Given the description of an element on the screen output the (x, y) to click on. 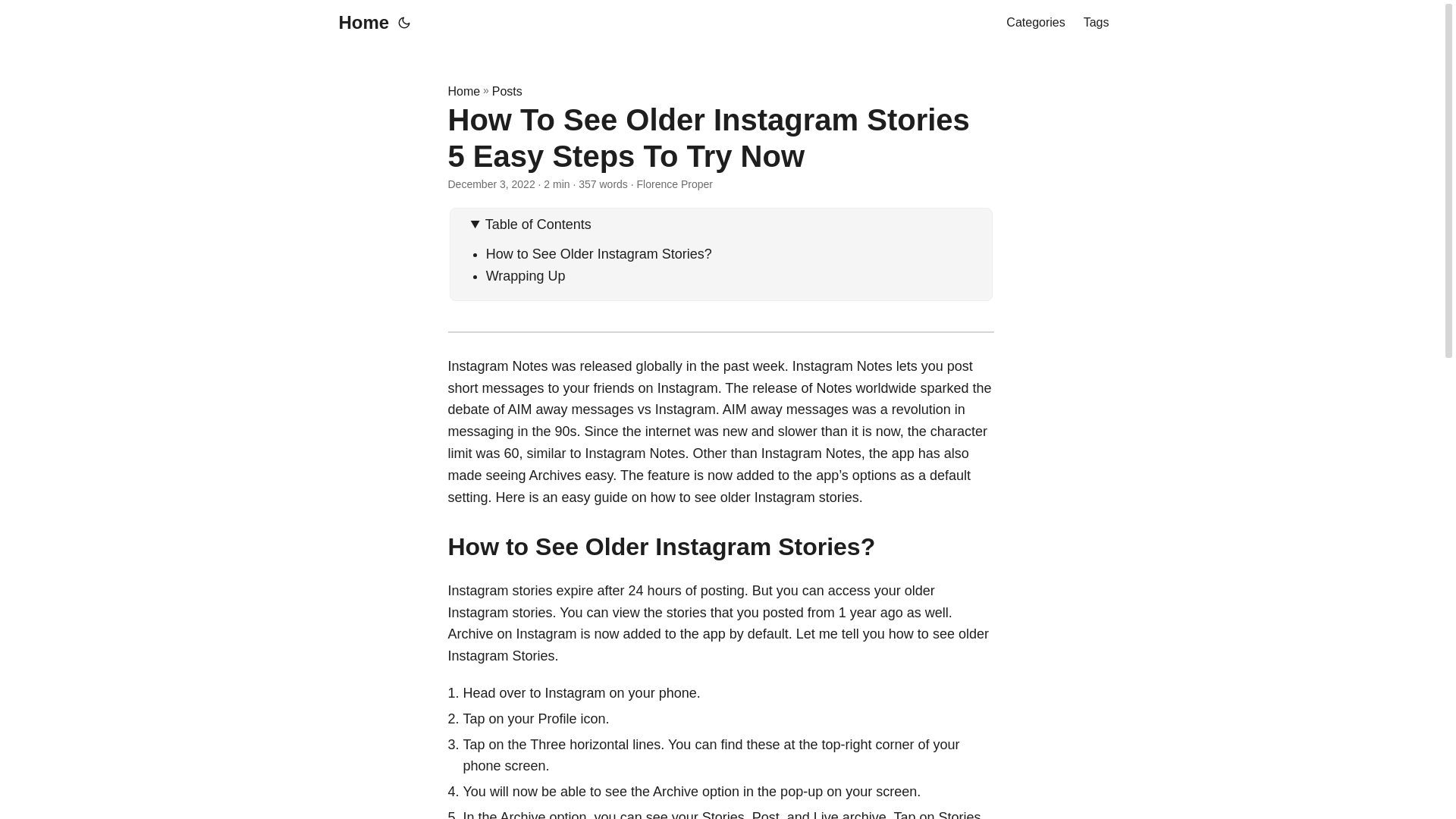
Categories (1035, 22)
Home (463, 91)
Posts (507, 91)
How to See Older Instagram Stories? (598, 253)
Wrapping Up (526, 275)
Categories (1035, 22)
Home (359, 22)
